Given the description of an element on the screen output the (x, y) to click on. 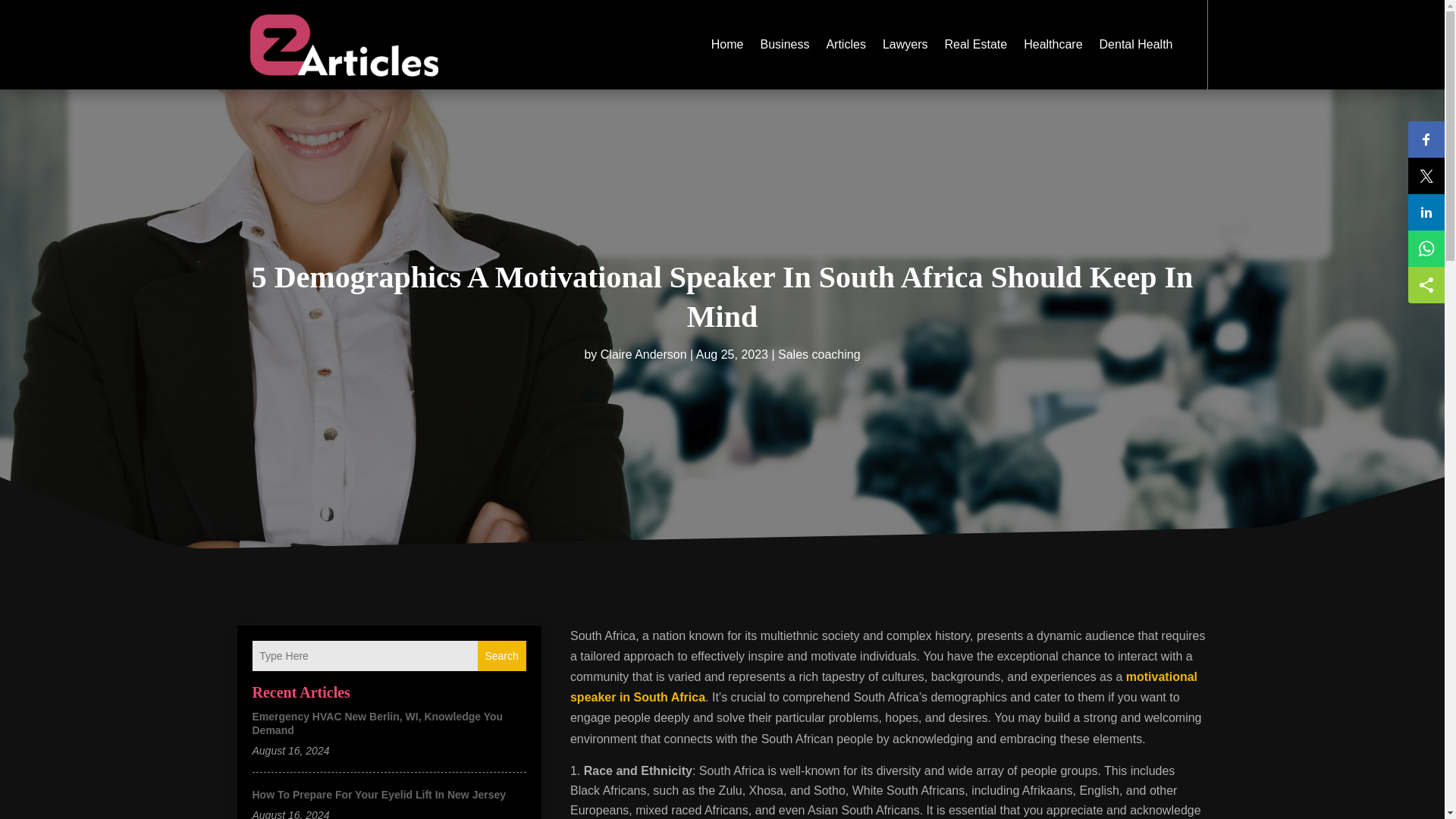
How To Prepare For Your Eyelid Lift In New Jersey (378, 794)
Dental Health (1136, 44)
Sales coaching (818, 354)
Search (501, 655)
Real Estate (975, 44)
Claire Anderson (643, 354)
Emergency HVAC New Berlin, WI, Knowledge You Demand (376, 723)
Posts by Claire Anderson (643, 354)
